Given the description of an element on the screen output the (x, y) to click on. 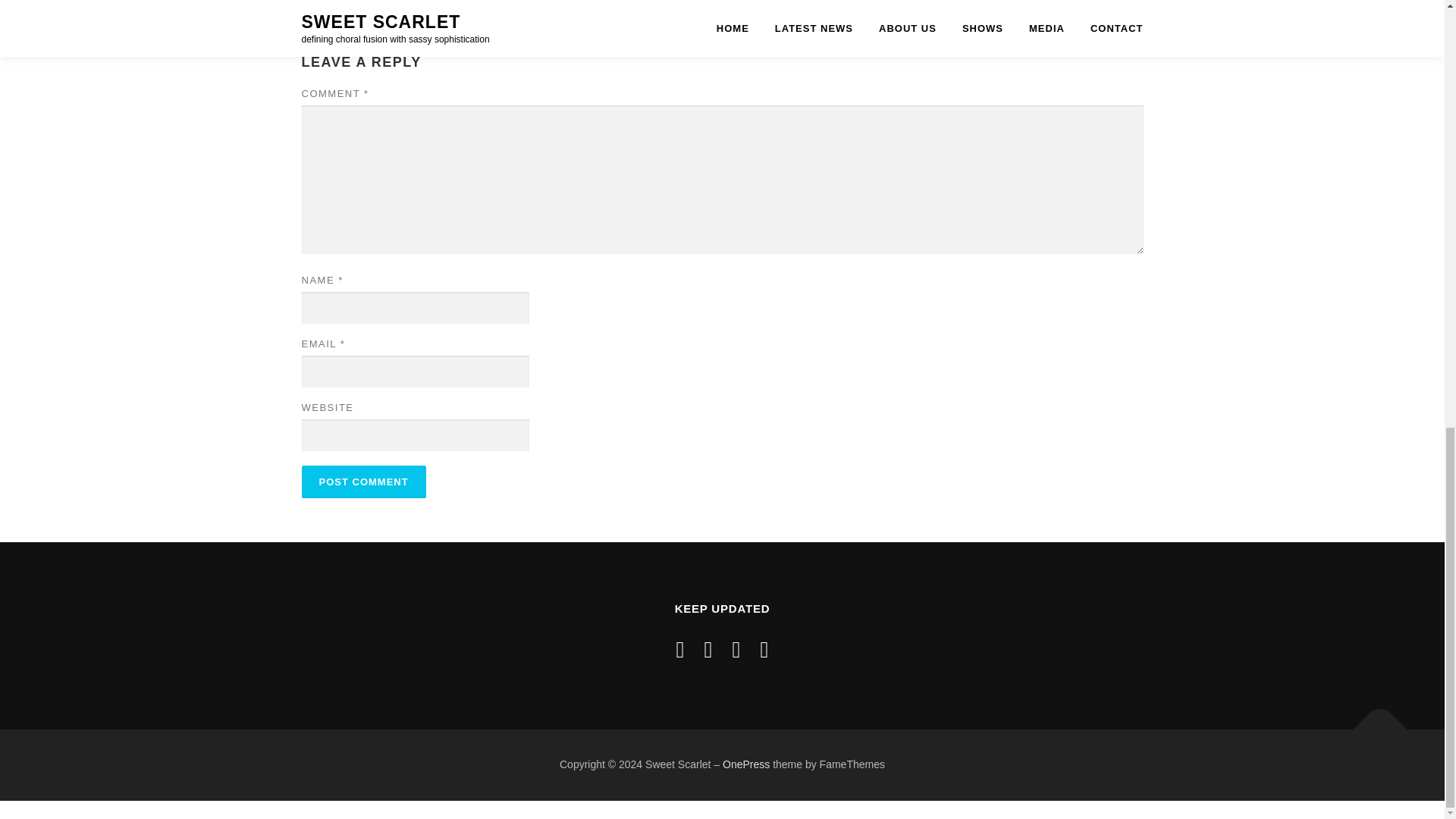
Post Comment (363, 481)
Back To Top (1372, 721)
